Given the description of an element on the screen output the (x, y) to click on. 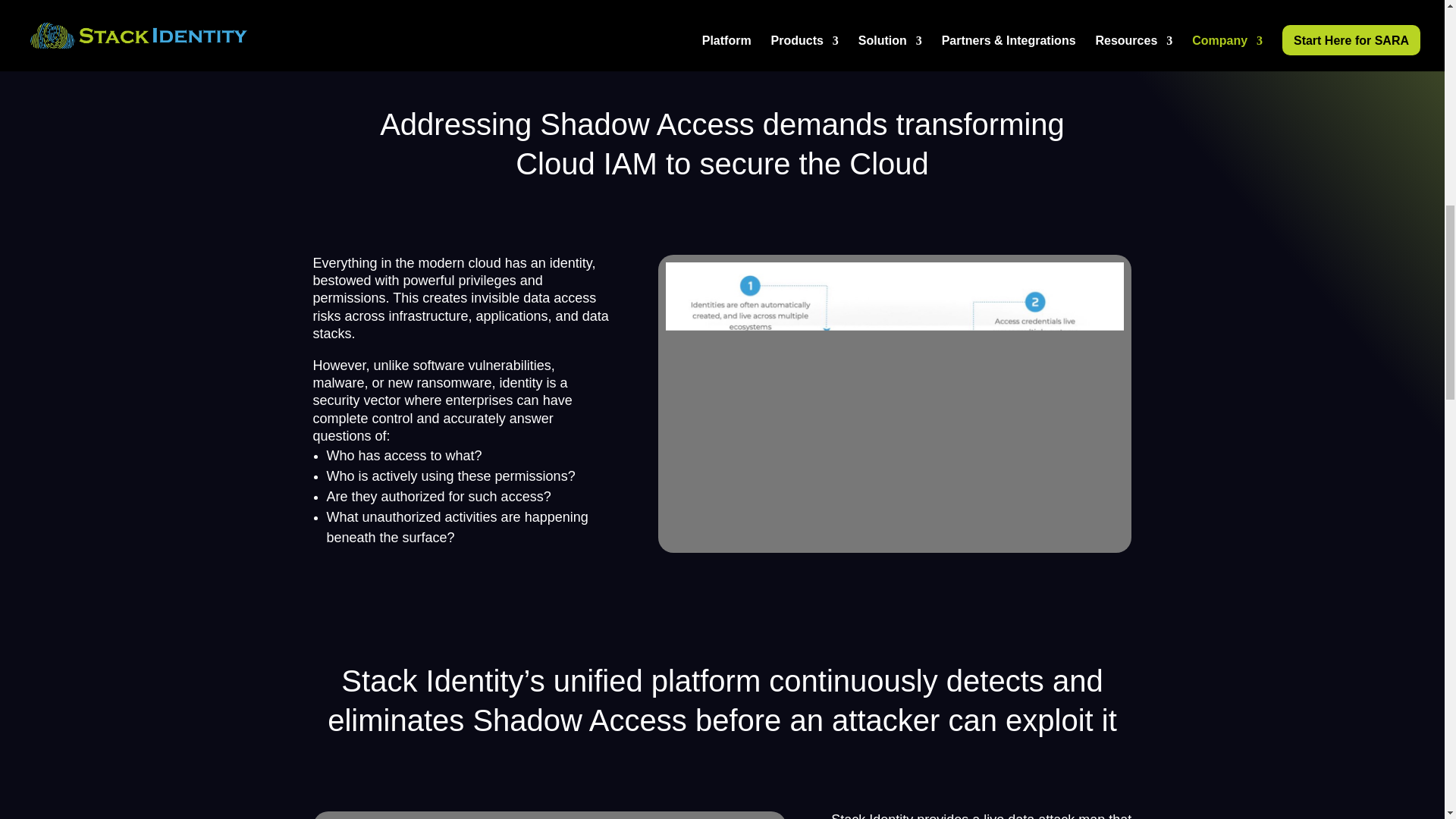
addressing-shadow-access (894, 403)
